Given the description of an element on the screen output the (x, y) to click on. 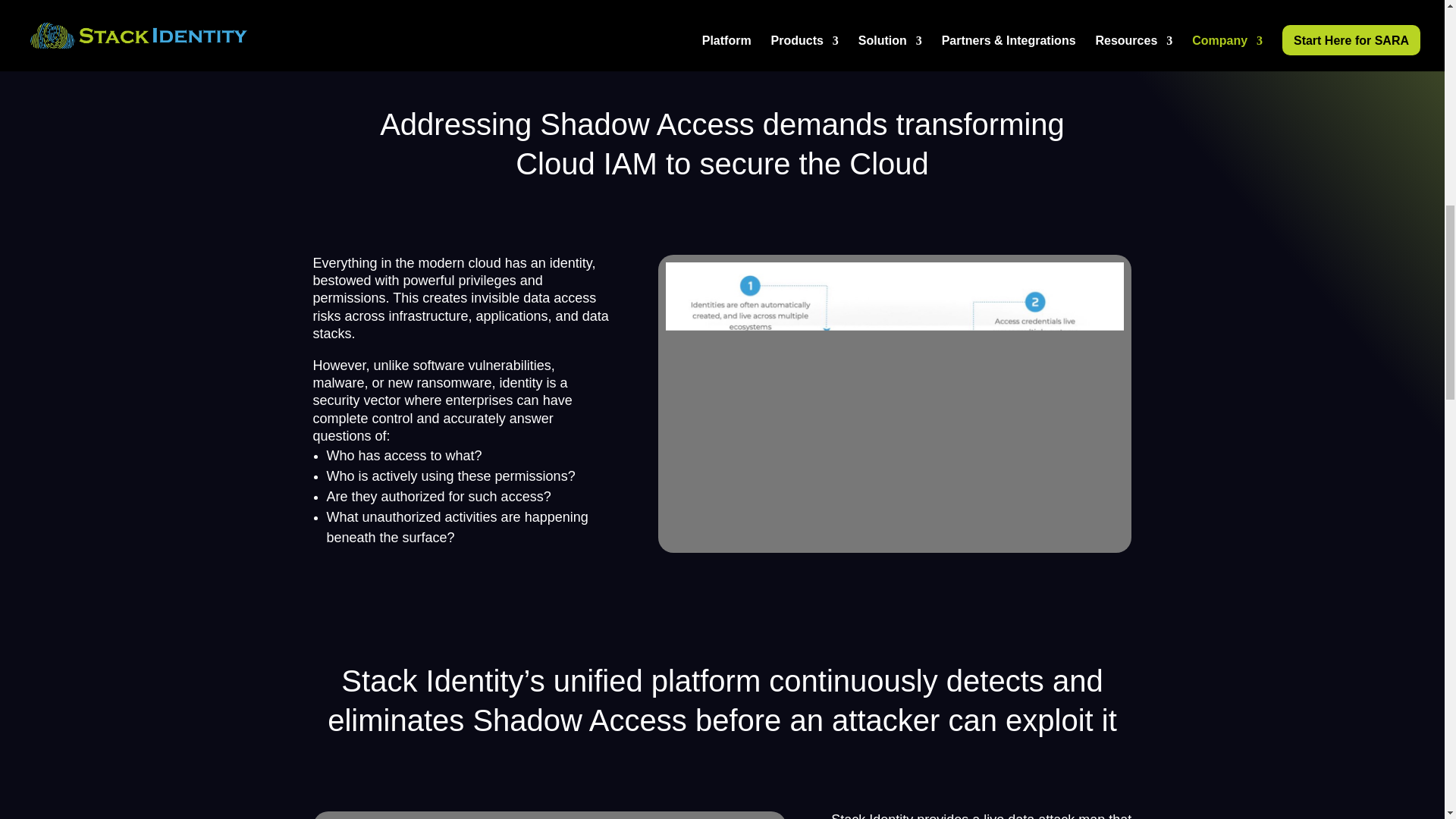
addressing-shadow-access (894, 403)
